Given the description of an element on the screen output the (x, y) to click on. 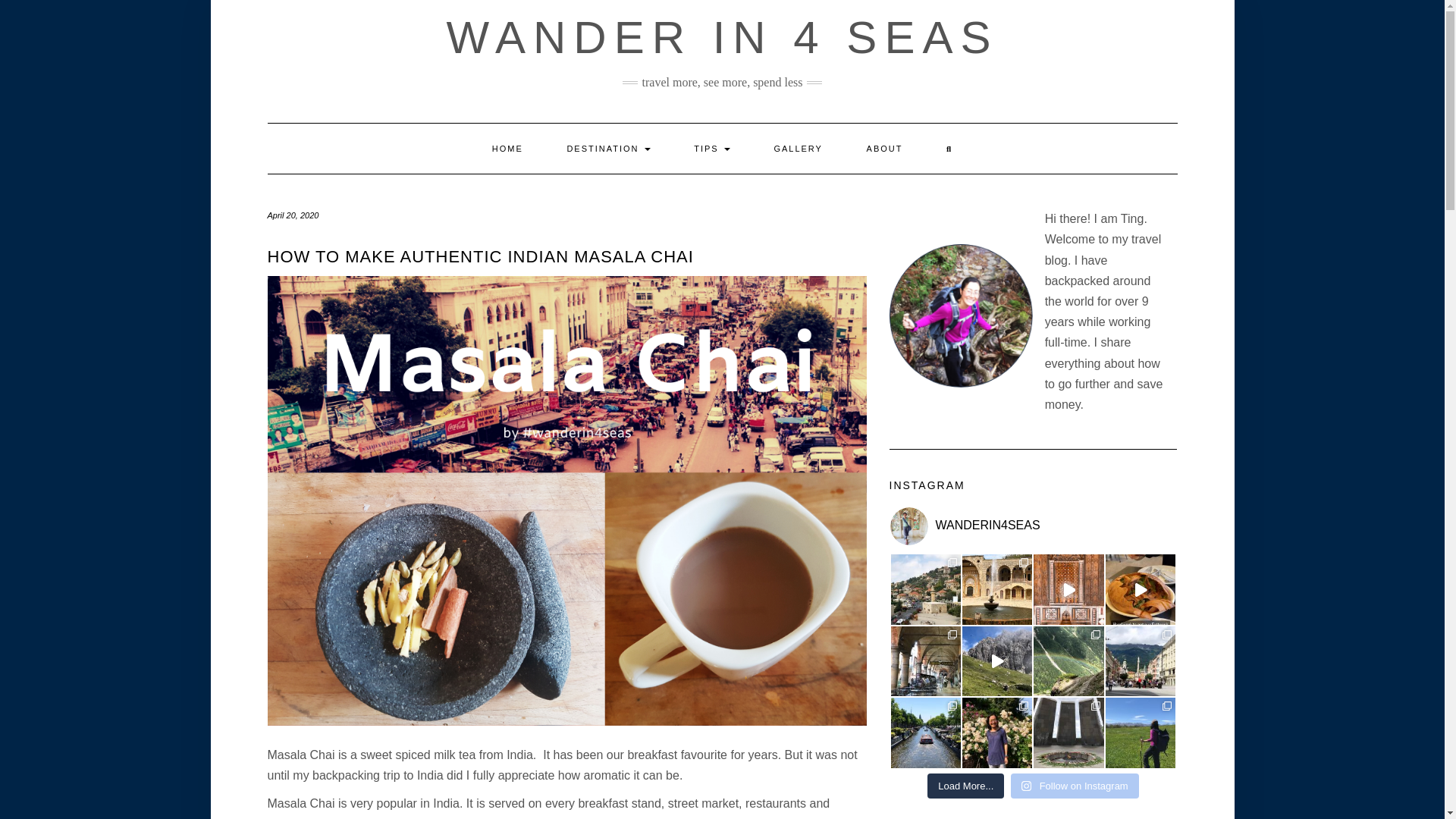
WANDERIN4SEAS (983, 525)
WANDER IN 4 SEAS (722, 37)
DESTINATION (607, 148)
HOME (507, 148)
TIPS (711, 148)
GALLERY (797, 148)
ABOUT (884, 148)
